Given the description of an element on the screen output the (x, y) to click on. 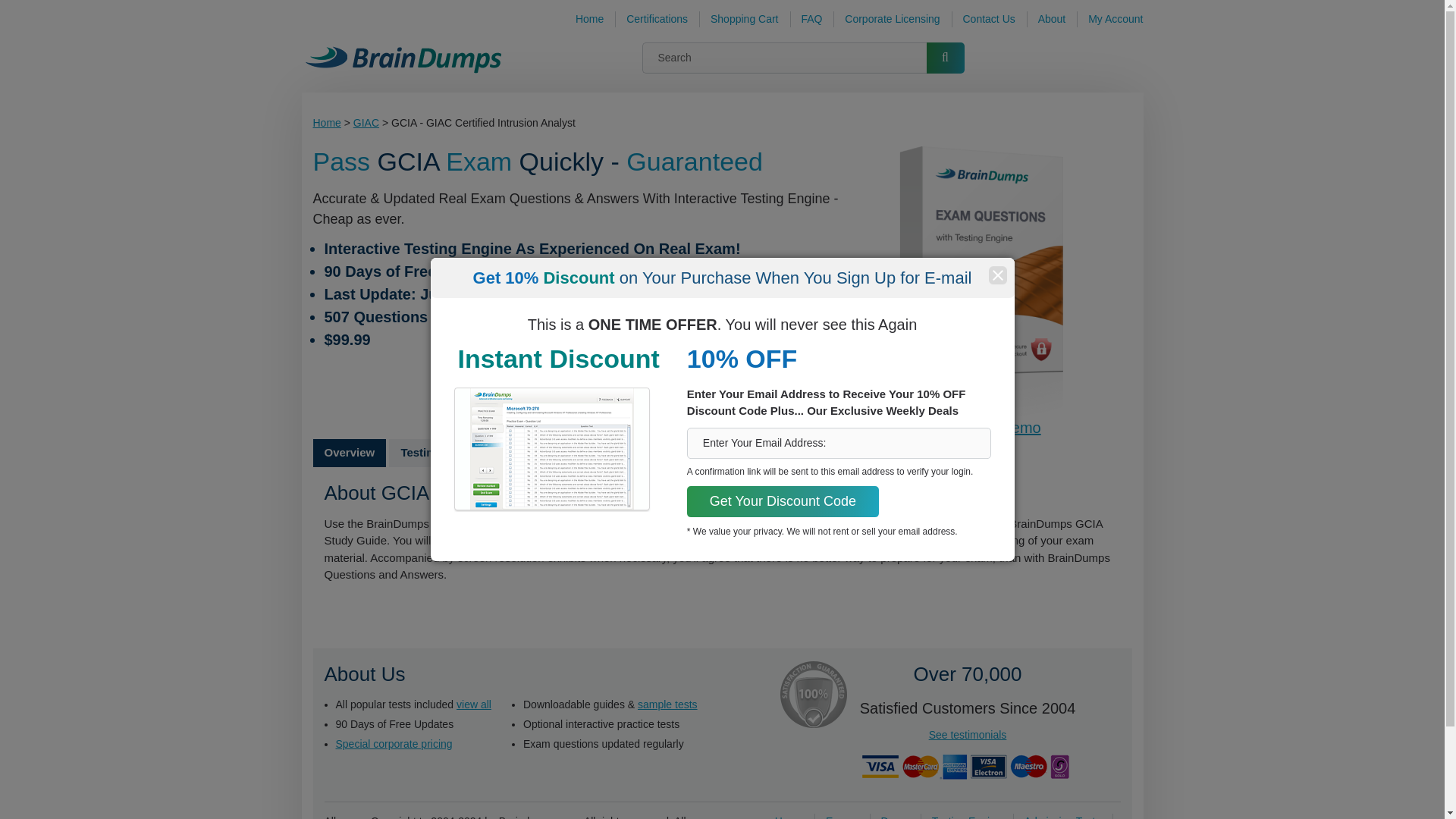
BrainDumps.com - Advanced Certification Exams and Training (403, 57)
About (1051, 19)
GIAC (365, 122)
My Account (1114, 19)
Certifications (656, 19)
Contact Us (988, 19)
Search (944, 57)
Testing Engine (966, 816)
Buy Now (581, 377)
FAQ (811, 19)
Corporate Licensing (891, 19)
Download Demo (984, 427)
sample tests (667, 703)
Enter Your Email Address: (839, 442)
